Given the description of an element on the screen output the (x, y) to click on. 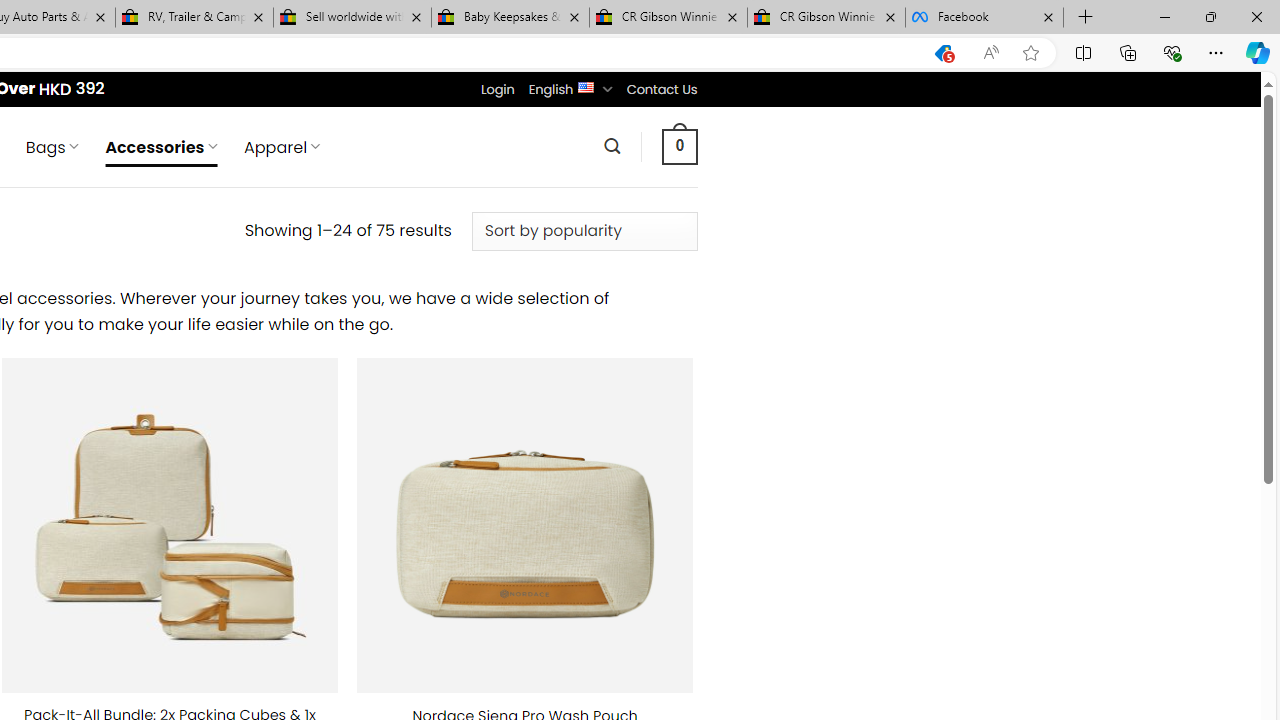
Sell worldwide with eBay (352, 17)
Search (612, 146)
Restore (1210, 16)
Split screen (1083, 52)
Login (497, 89)
Collections (1128, 52)
Close (1256, 16)
